Given the description of an element on the screen output the (x, y) to click on. 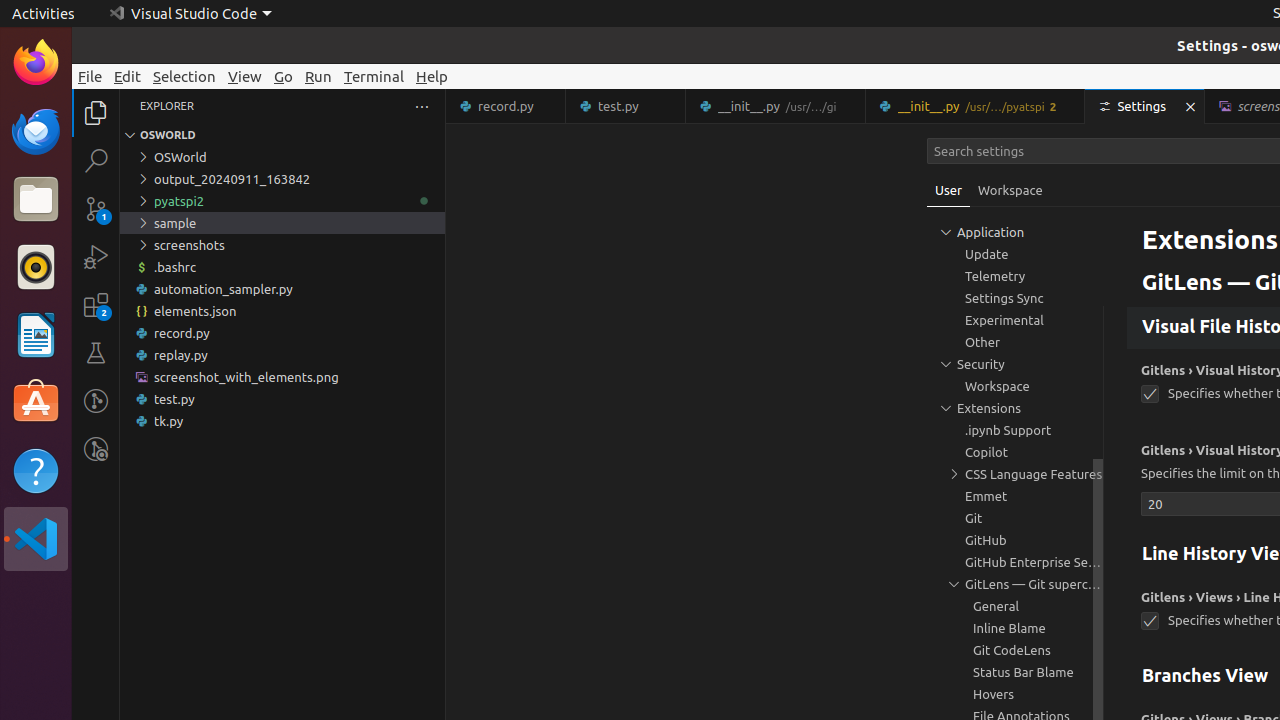
elements.json Element type: tree-item (282, 311)
automation_sampler.py Element type: tree-item (282, 289)
sample Element type: tree-item (282, 223)
Security, group Element type: tree-item (1015, 364)
